Given the description of an element on the screen output the (x, y) to click on. 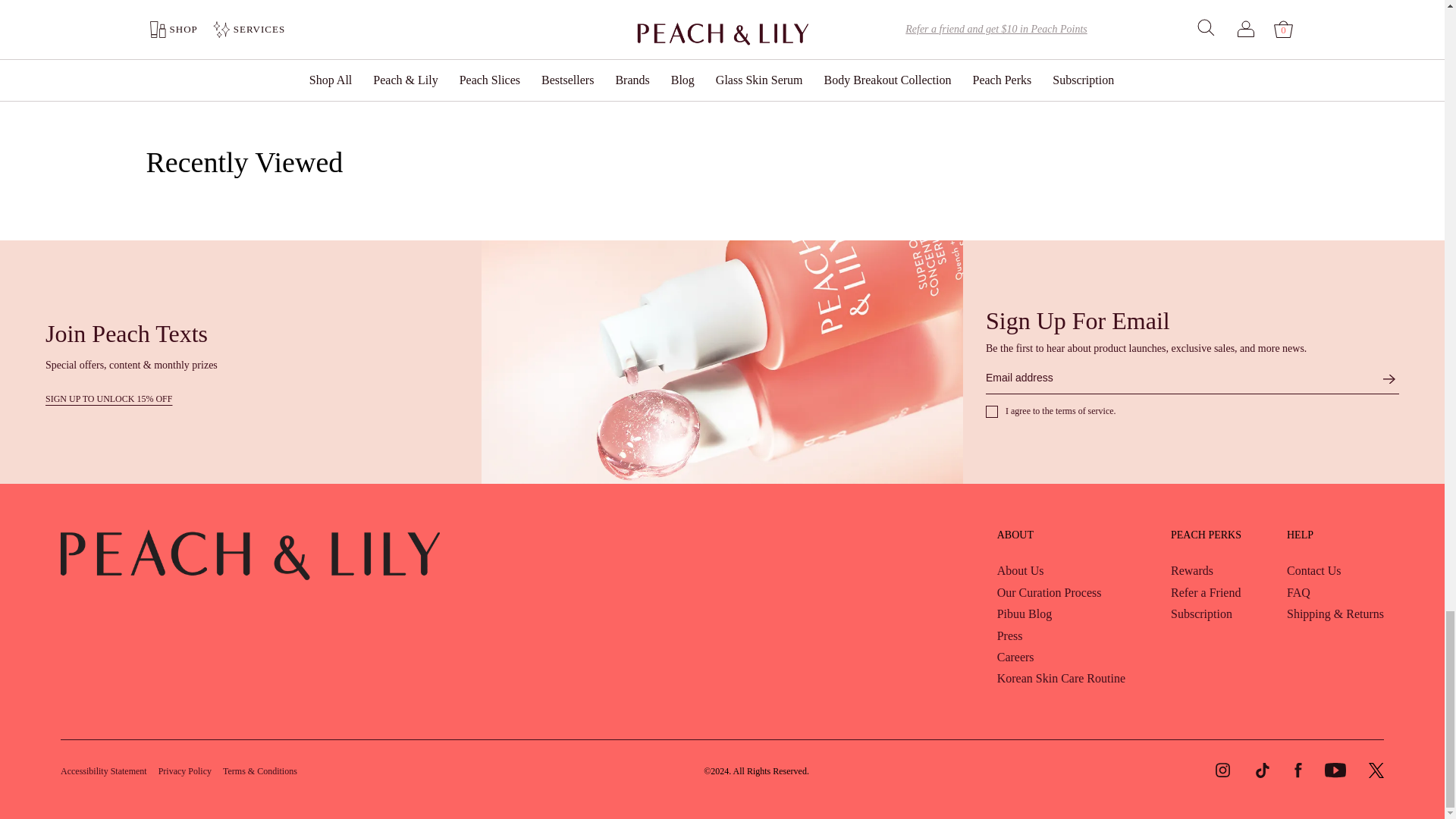
1 (663, 64)
